Given the description of an element on the screen output the (x, y) to click on. 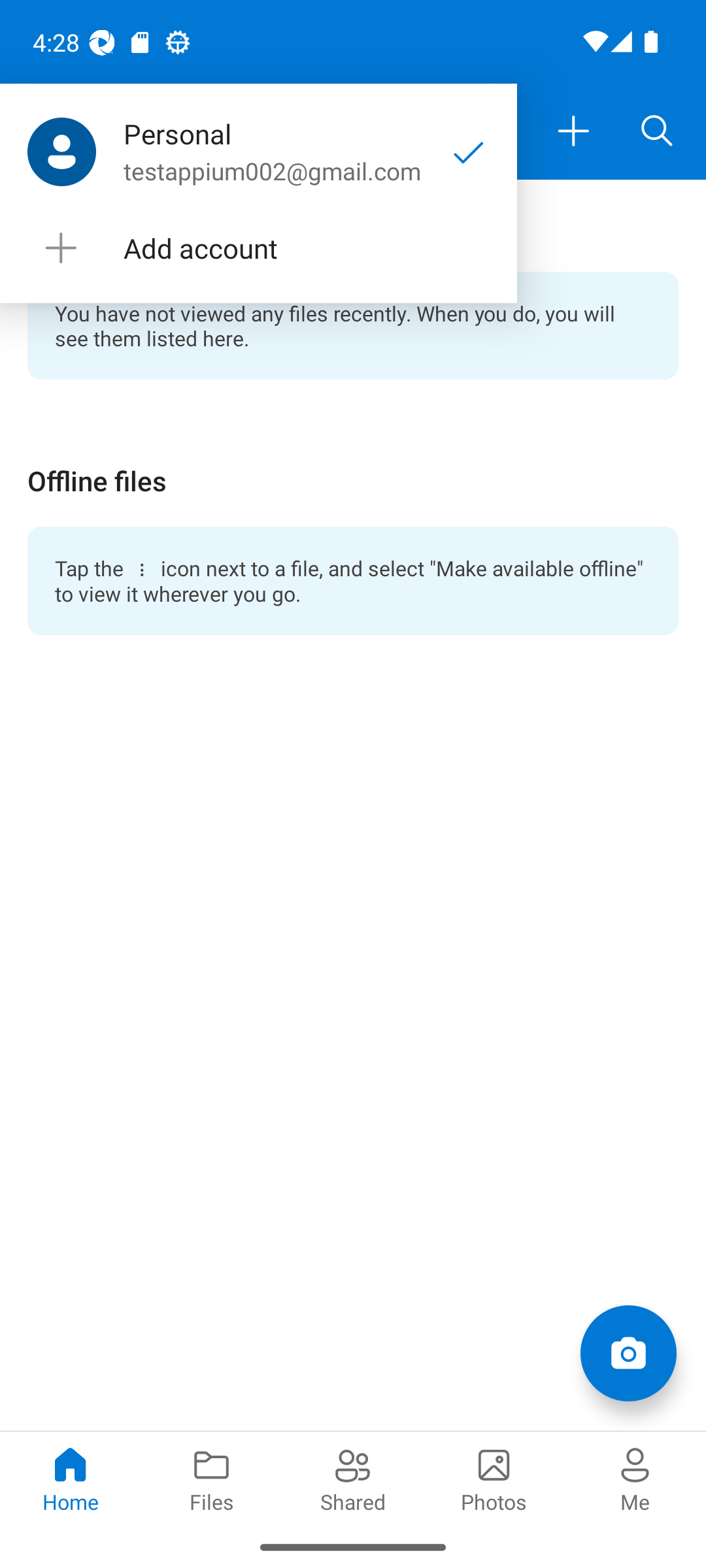
Personal testappium002@gmail.com Checked (258, 151)
Checked (468, 151)
Add account button Add account (258, 248)
